Given the description of an element on the screen output the (x, y) to click on. 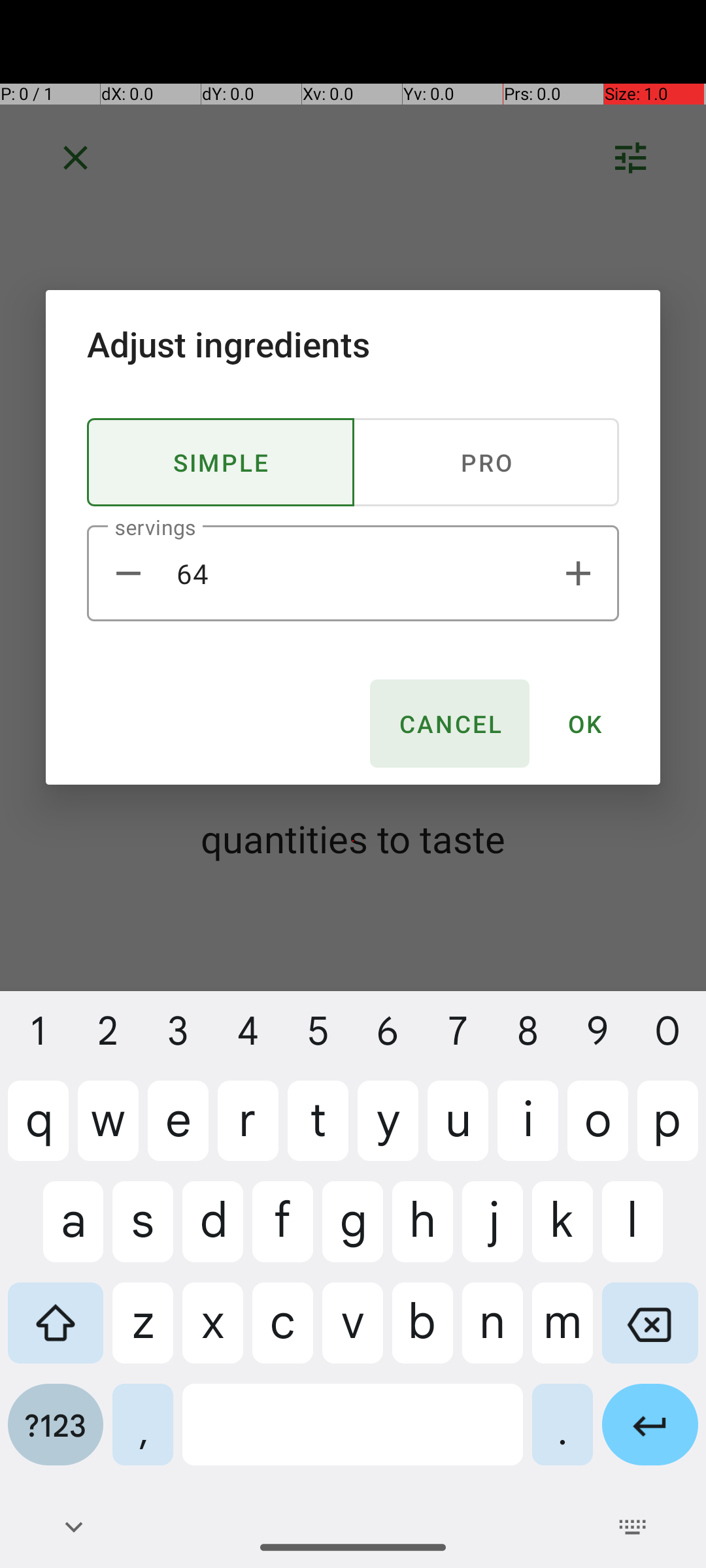
64 Element type: android.widget.EditText (352, 573)
